Given the description of an element on the screen output the (x, y) to click on. 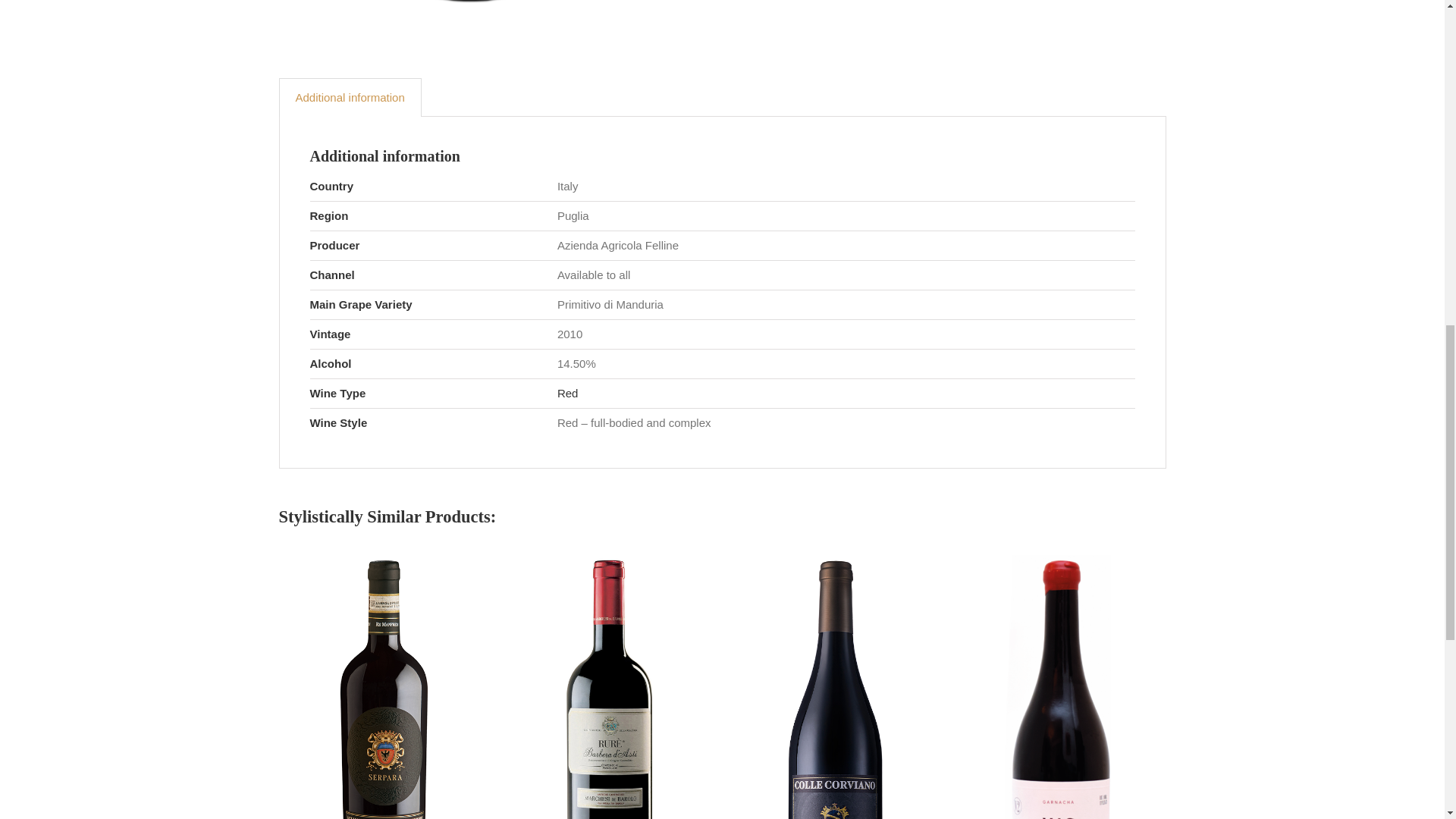
Felline-Cuvee-Anniversario-Primitivo-Riserva (468, 16)
Red (567, 392)
Additional information (349, 97)
